Given the description of an element on the screen output the (x, y) to click on. 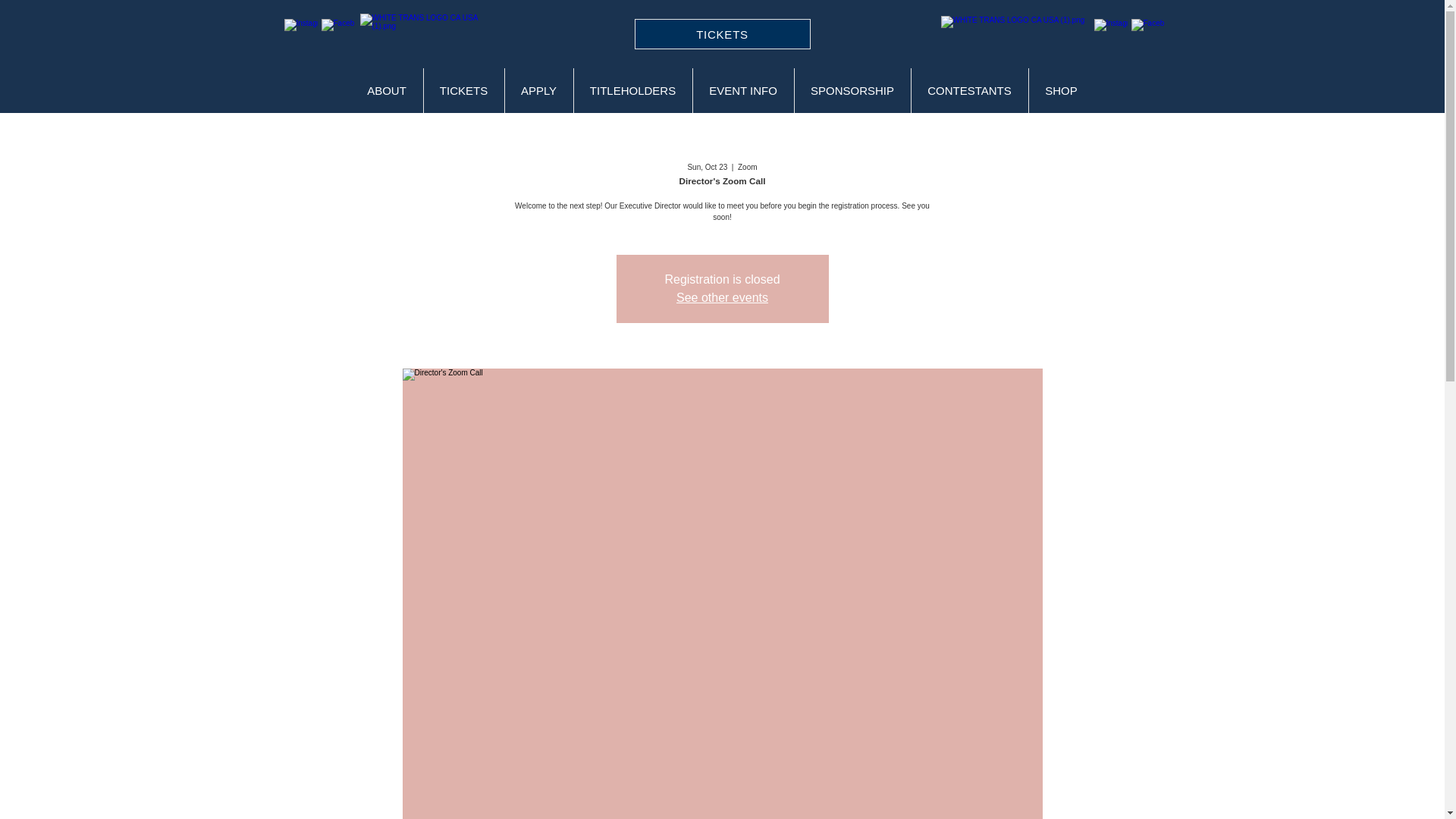
TICKETS (721, 33)
See other events (722, 297)
TICKETS (463, 90)
APPLY (537, 90)
ABOUT (386, 90)
SHOP (1060, 90)
